Given the description of an element on the screen output the (x, y) to click on. 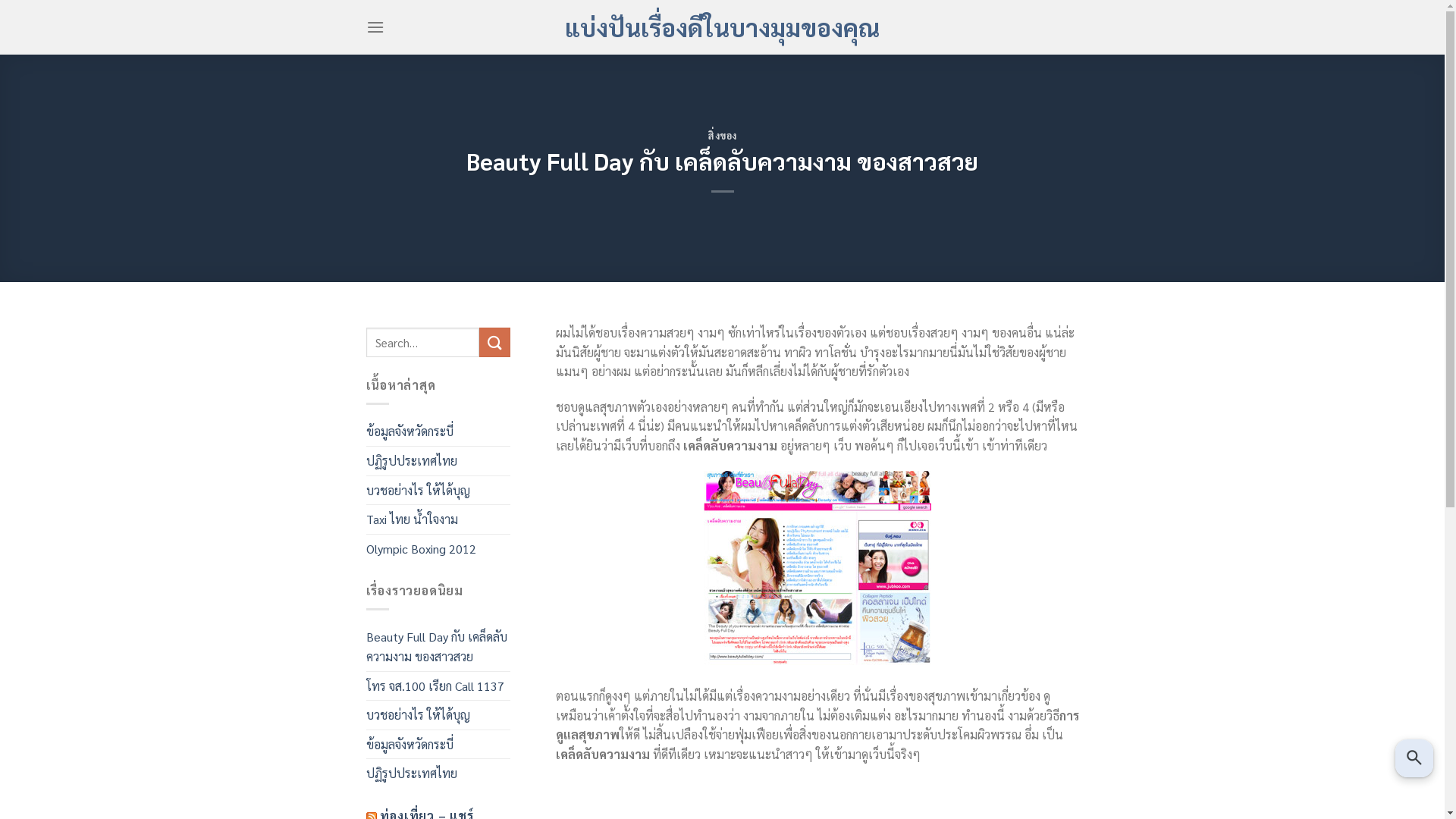
Skip to content Element type: text (0, 0)
Olympic Boxing 2012 Element type: text (420, 548)
